Given the description of an element on the screen output the (x, y) to click on. 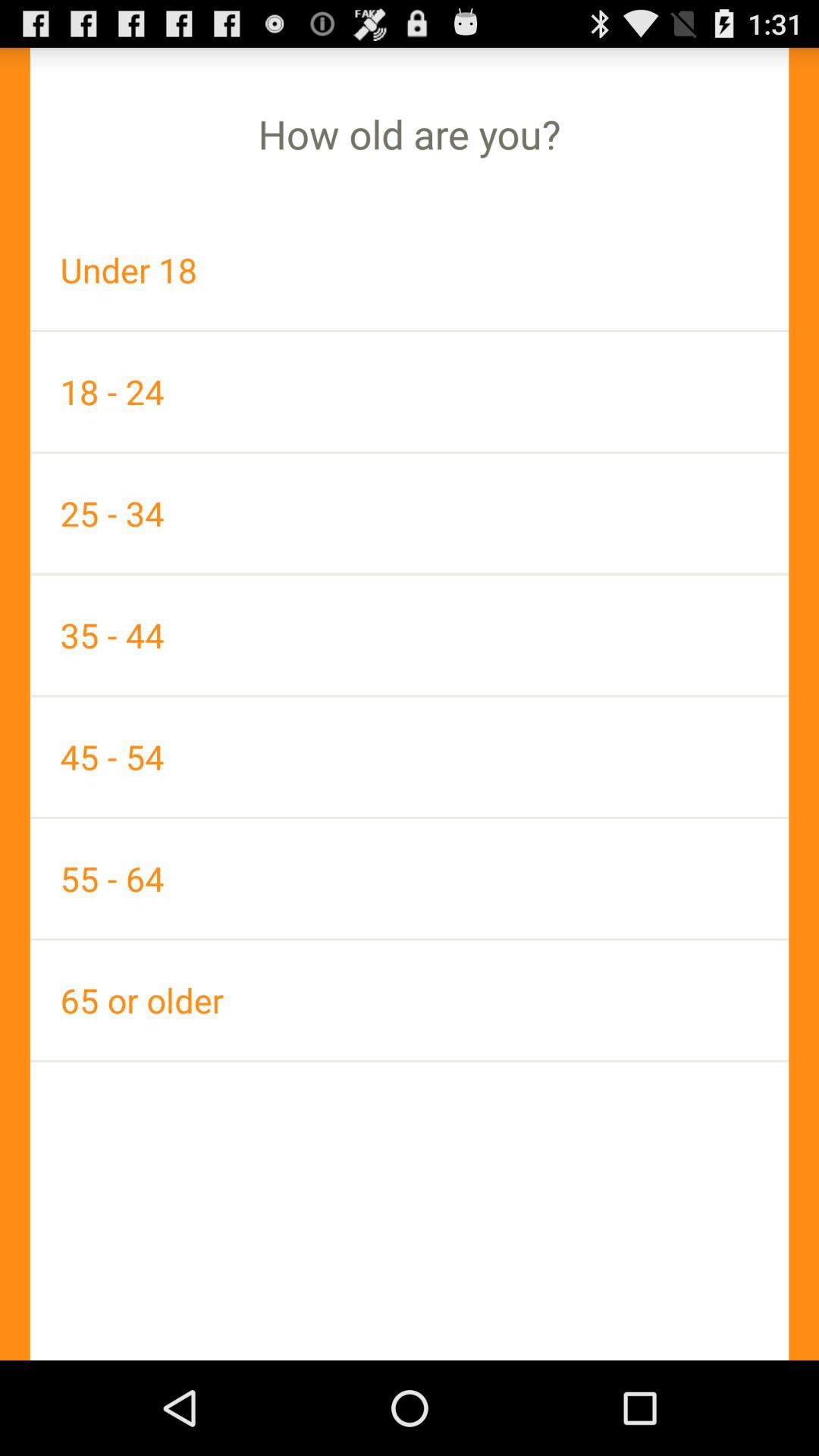
click app above the 45 - 54 icon (409, 635)
